Given the description of an element on the screen output the (x, y) to click on. 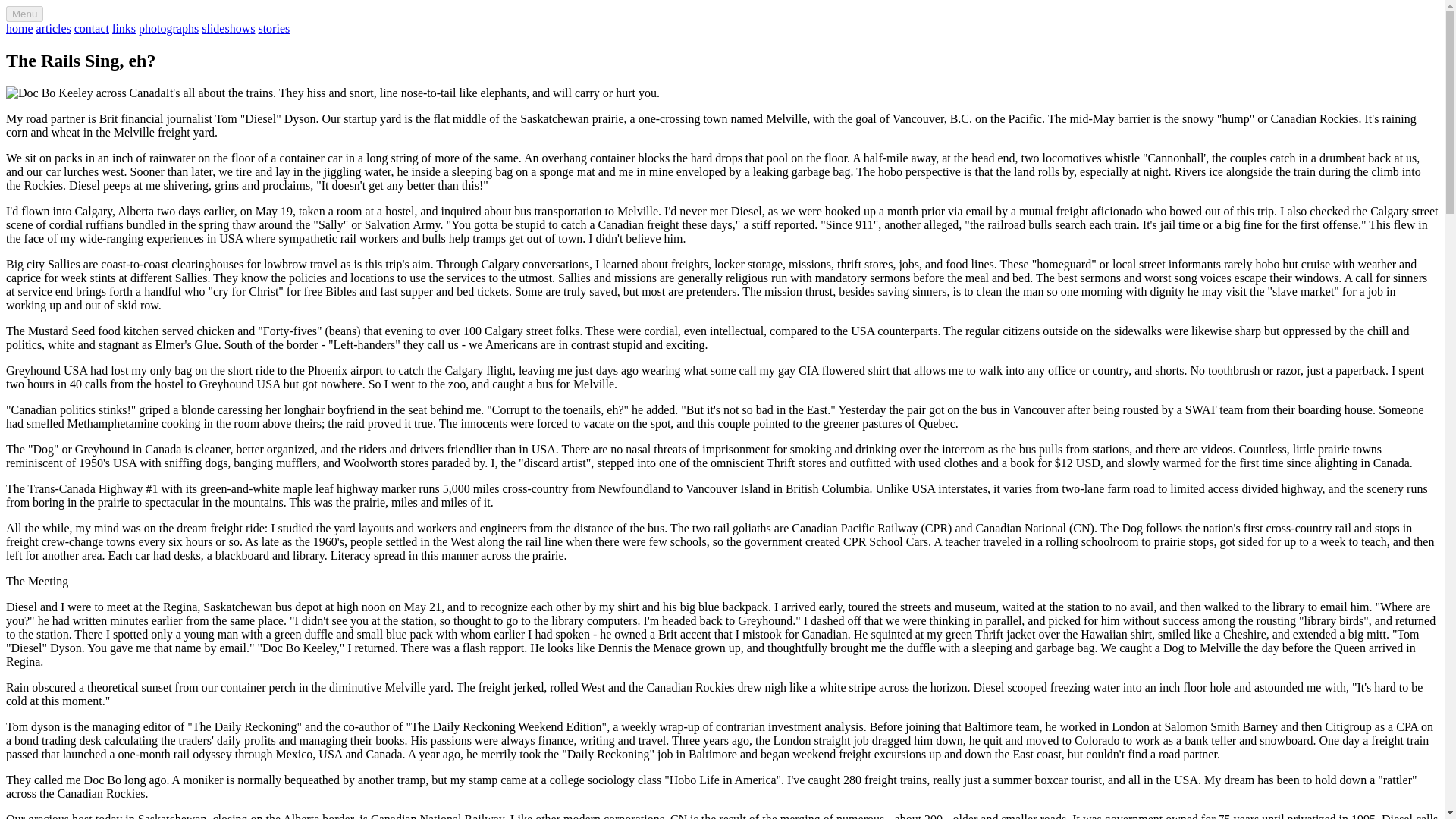
slideshows (228, 28)
home (19, 28)
stories (273, 28)
contact (91, 28)
photographs (168, 28)
Menu (24, 13)
links (123, 28)
articles (53, 28)
